Given the description of an element on the screen output the (x, y) to click on. 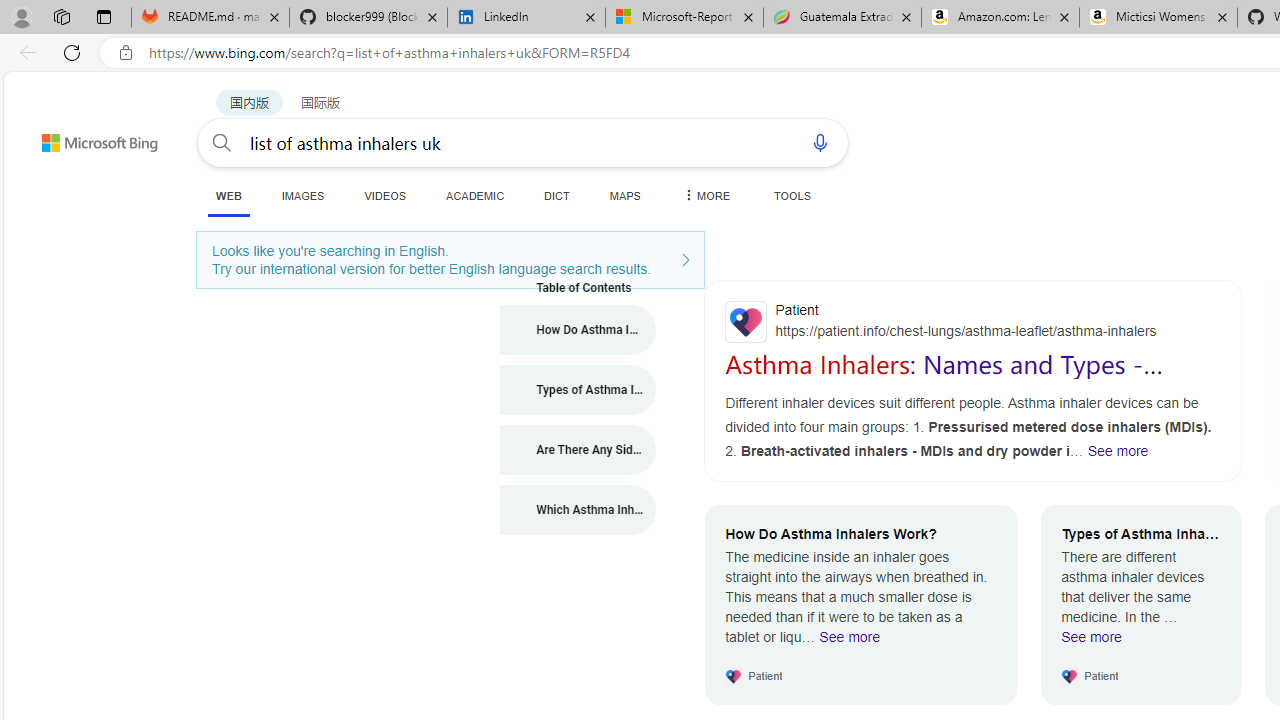
Global web icon (745, 321)
VIDEOS (384, 195)
Patient (973, 321)
TOOLS (792, 195)
Search button (221, 142)
How Do Asthma Inhalers Work? (578, 329)
VIDEOS (384, 195)
